Given the description of an element on the screen output the (x, y) to click on. 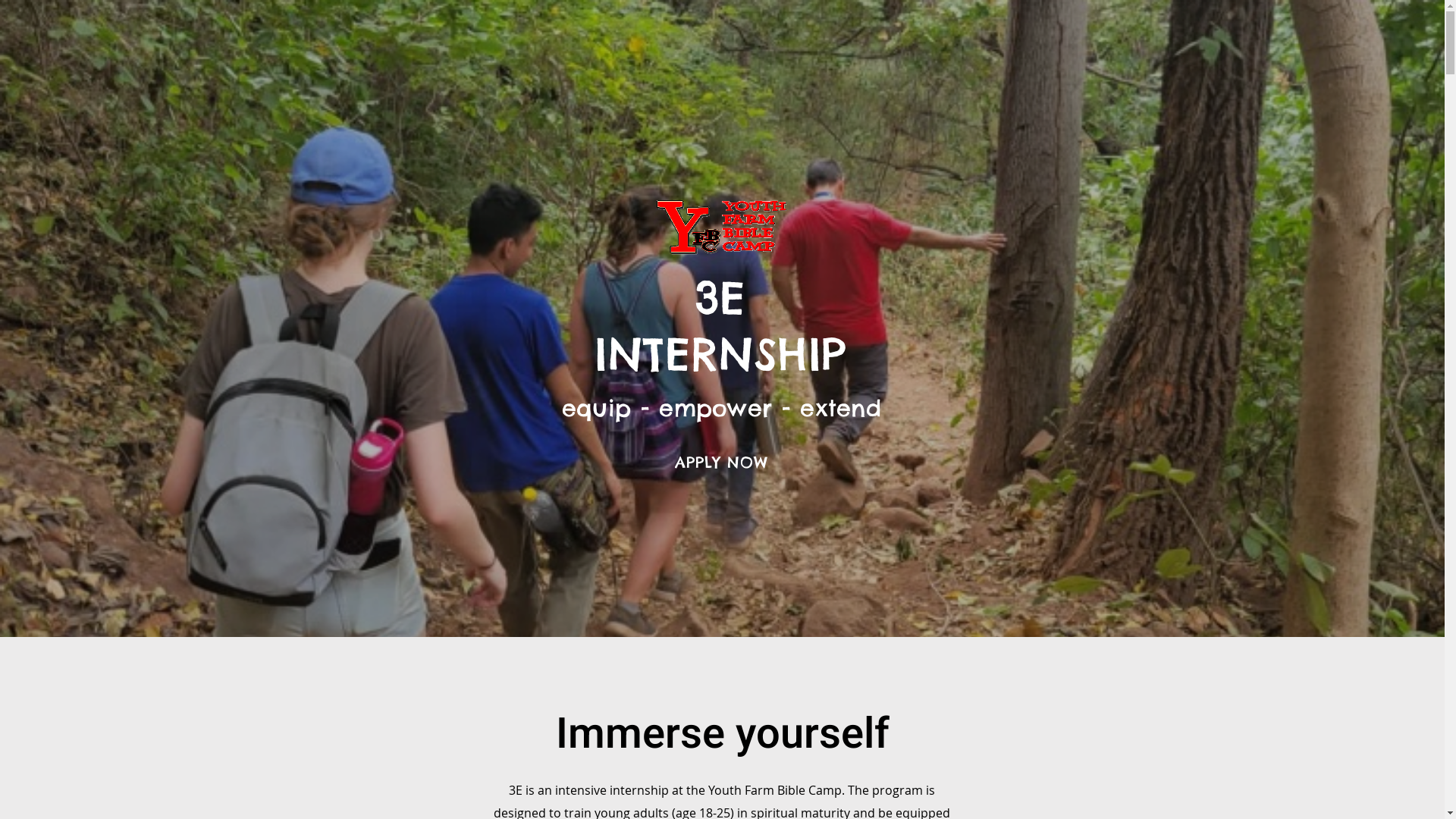
APPLY NOW Element type: text (720, 462)
